Given the description of an element on the screen output the (x, y) to click on. 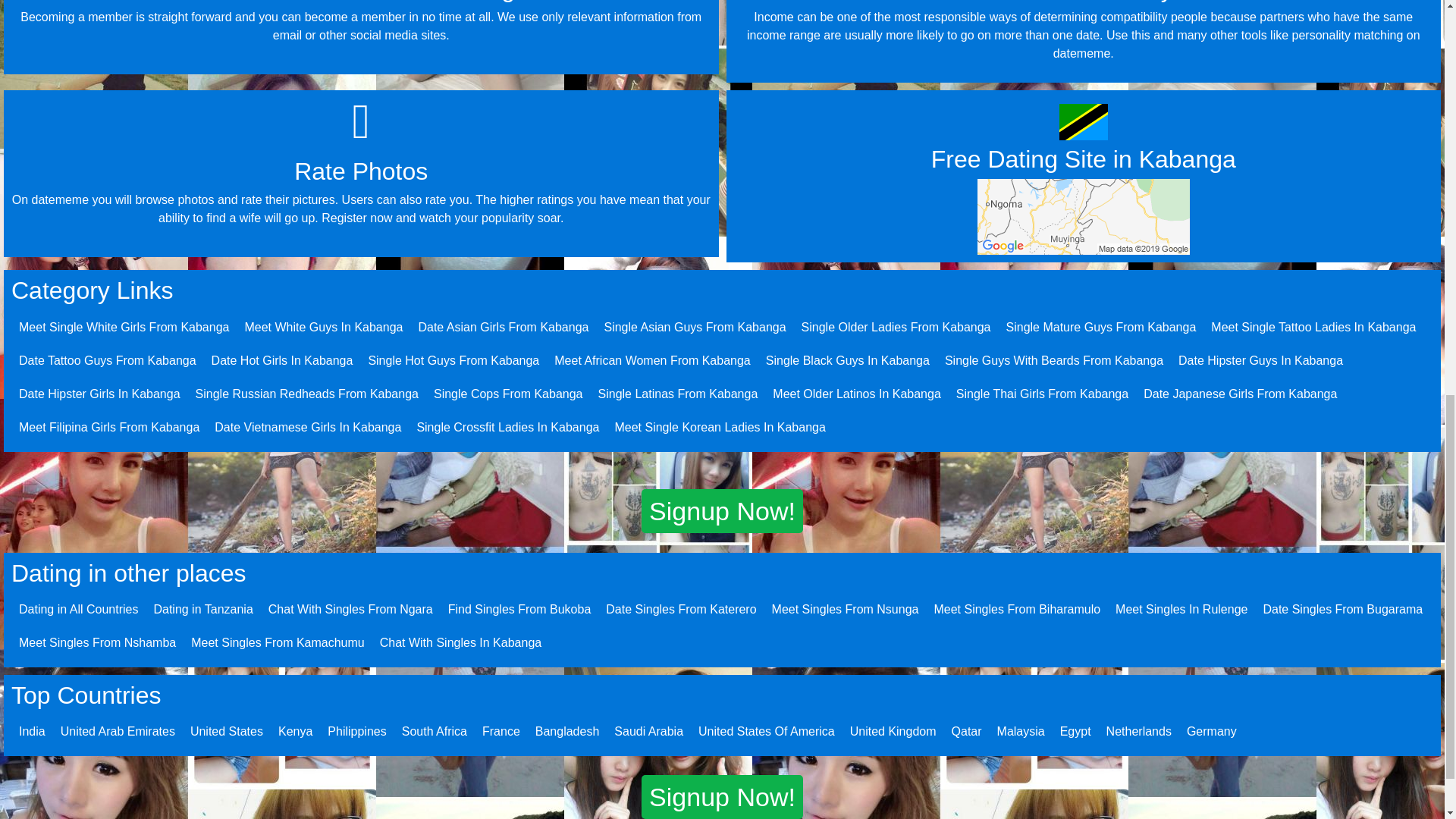
Date Asian Girls From Kabanga (502, 327)
Meet White Guys In Kabanga (323, 327)
Meet Single White Girls From Kabanga (123, 327)
Single Asian Guys From Kabanga (695, 327)
